Given the description of an element on the screen output the (x, y) to click on. 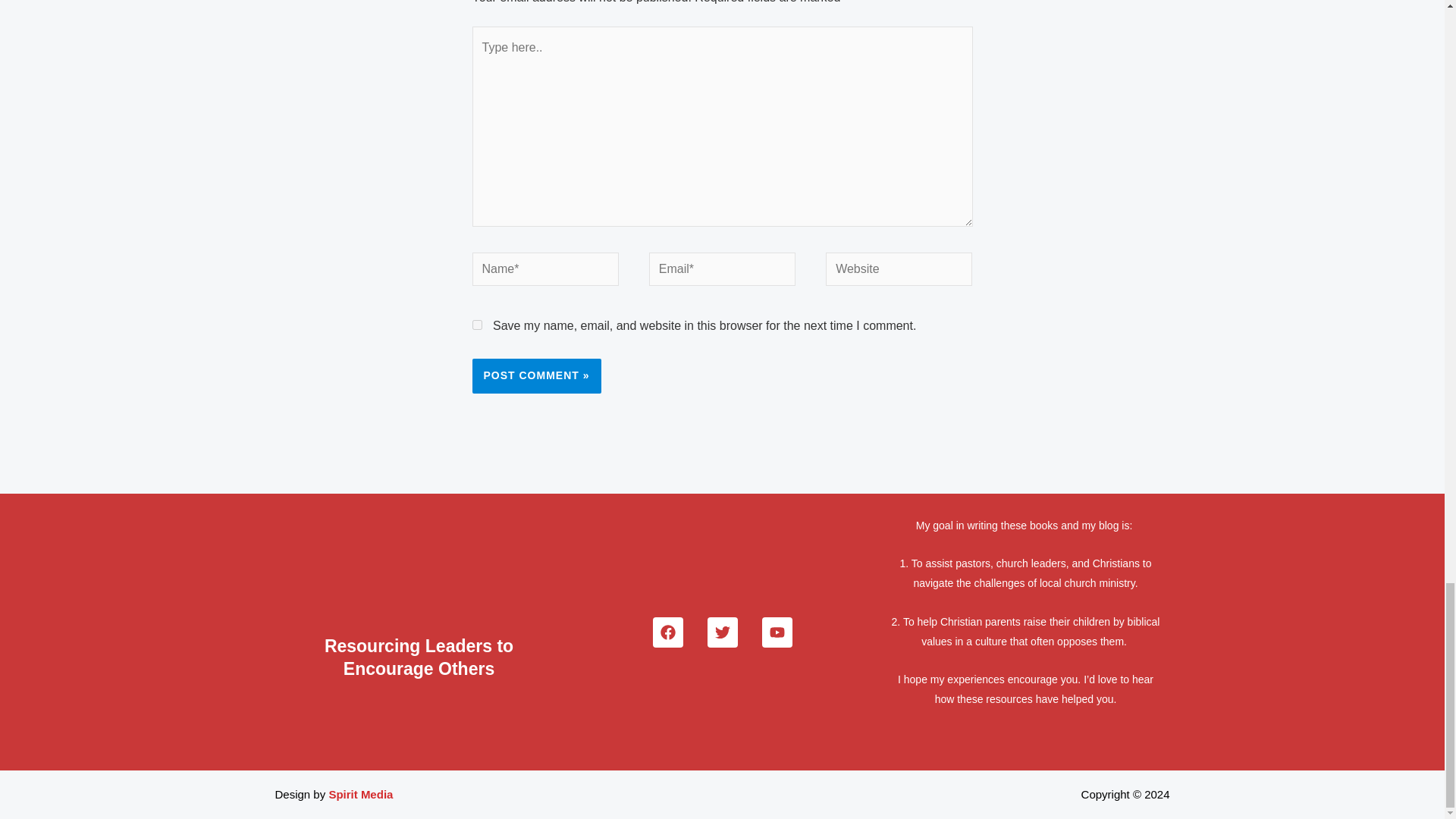
Twitter (721, 632)
yes (476, 325)
Spirit Media (361, 793)
Youtube (776, 632)
Facebook (667, 632)
